Given the description of an element on the screen output the (x, y) to click on. 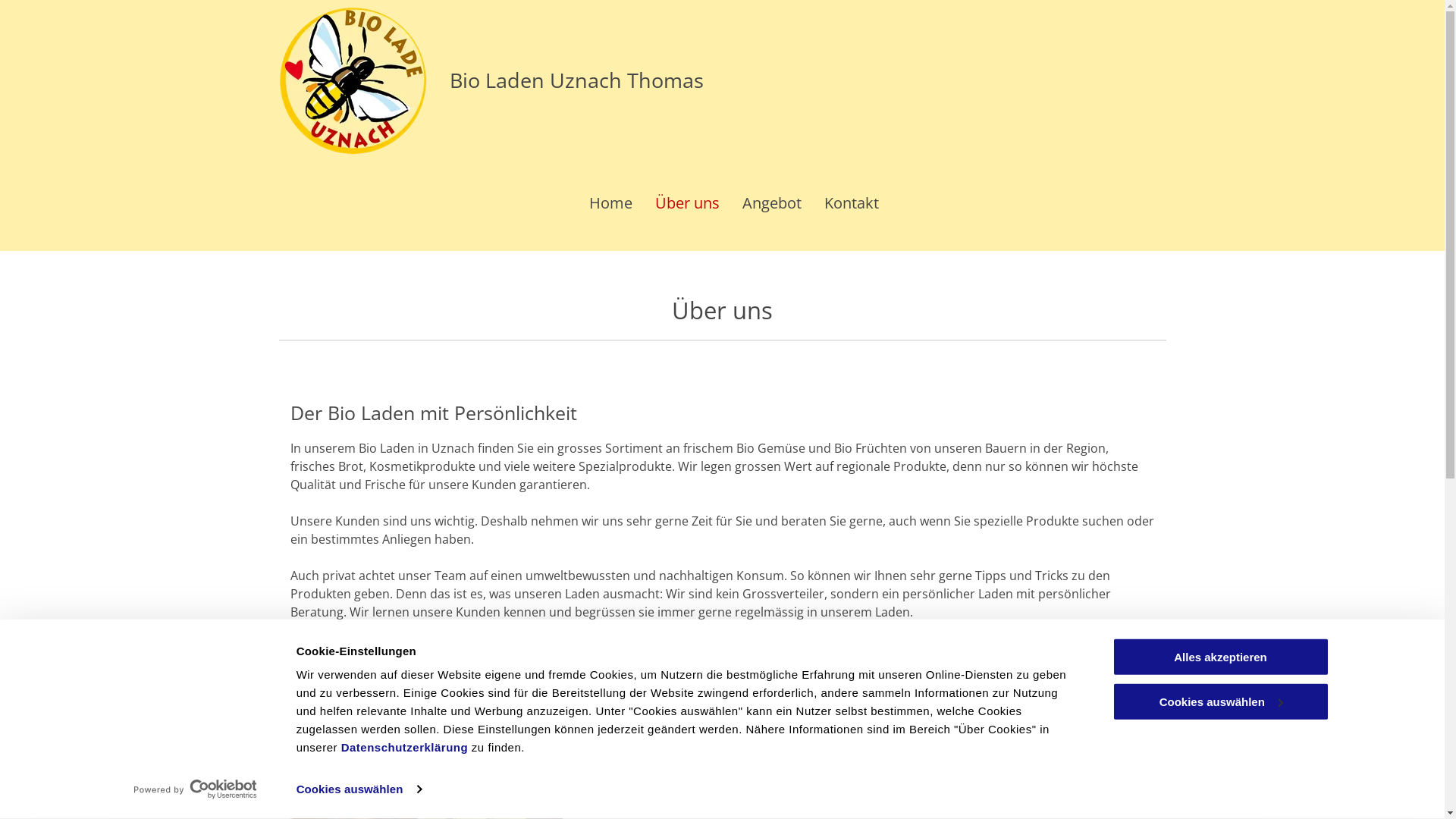
Angebot Element type: text (770, 204)
Kontakt Element type: text (850, 204)
Alles akzeptieren Element type: text (1219, 656)
Home Element type: text (609, 204)
